Given the description of an element on the screen output the (x, y) to click on. 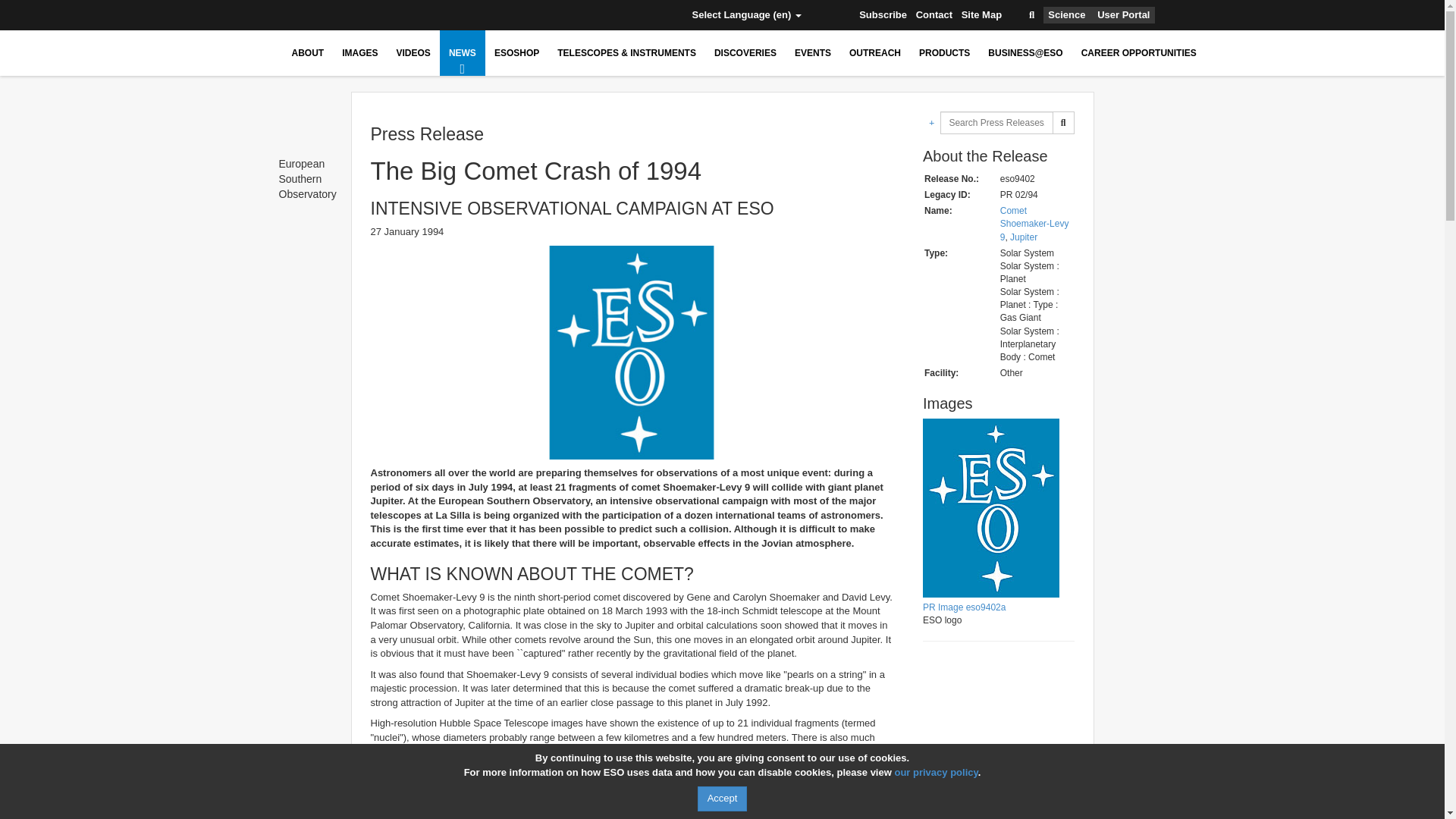
Sweden (593, 15)
Ireland (458, 15)
Contact (933, 15)
Site Map (981, 15)
Austria (298, 15)
Italy (481, 15)
our privacy policy (934, 772)
Spain (570, 15)
User Portal (1123, 14)
Science (1066, 14)
